Given the description of an element on the screen output the (x, y) to click on. 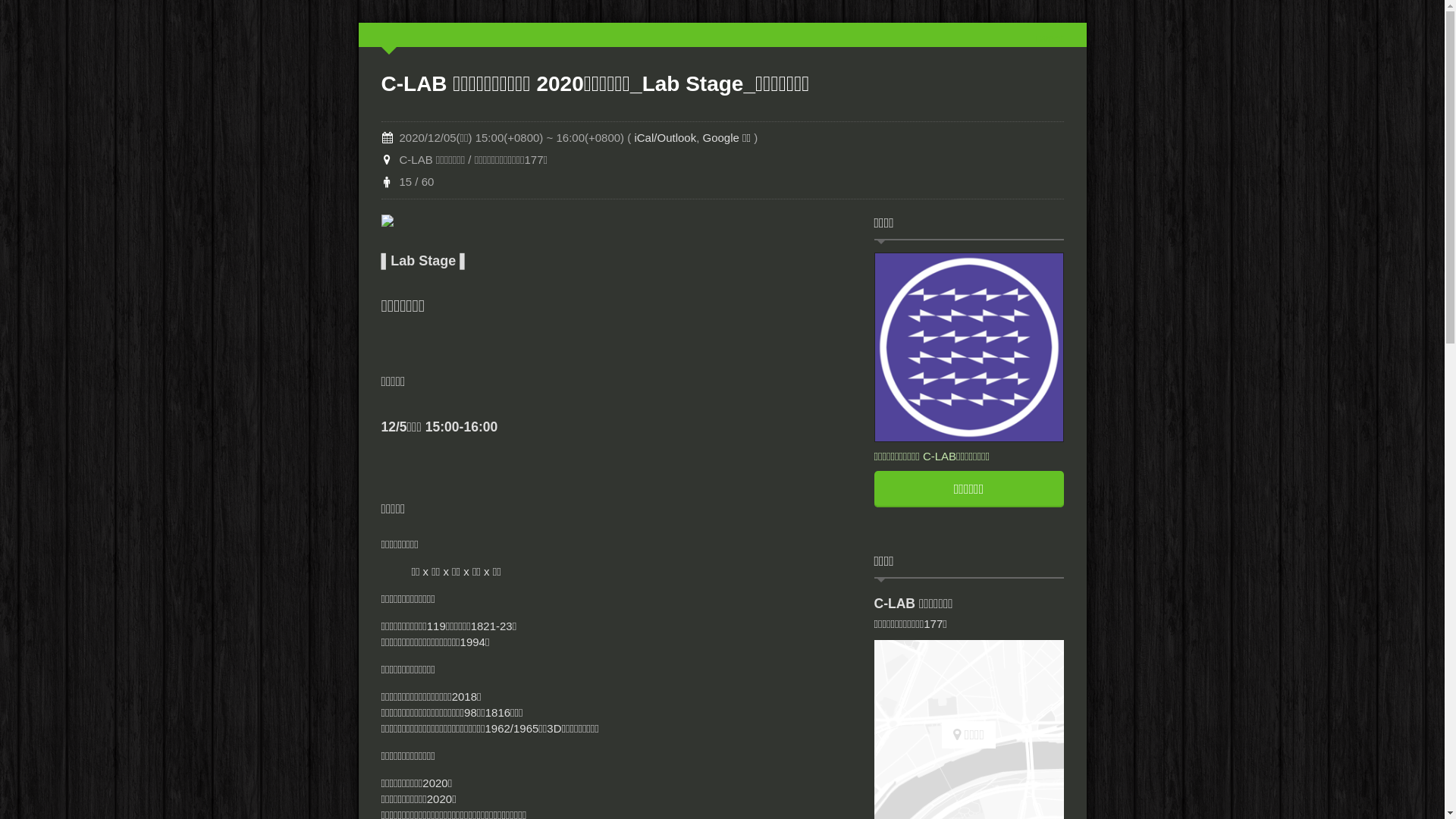
iCal/Outlook Element type: text (664, 137)
Tweet Element type: text (1047, 37)
